Given the description of an element on the screen output the (x, y) to click on. 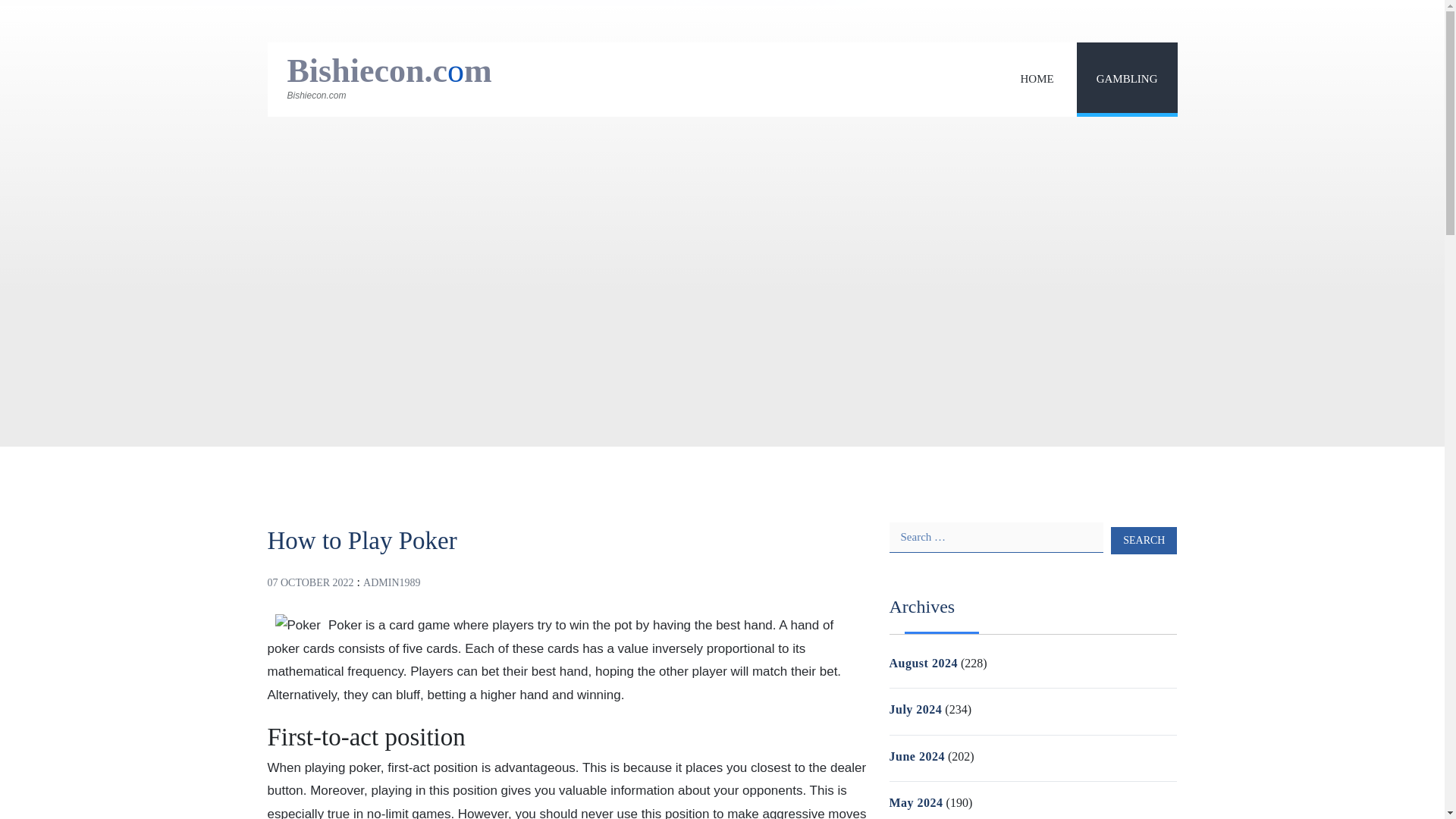
ADMIN1989 (391, 582)
June 2024 (915, 756)
Search (1143, 539)
Search (1143, 539)
HOME (1036, 78)
Bishiecon.com (389, 70)
August 2024 (922, 662)
Search (1143, 539)
May 2024 (915, 802)
July 2024 (915, 708)
